Given the description of an element on the screen output the (x, y) to click on. 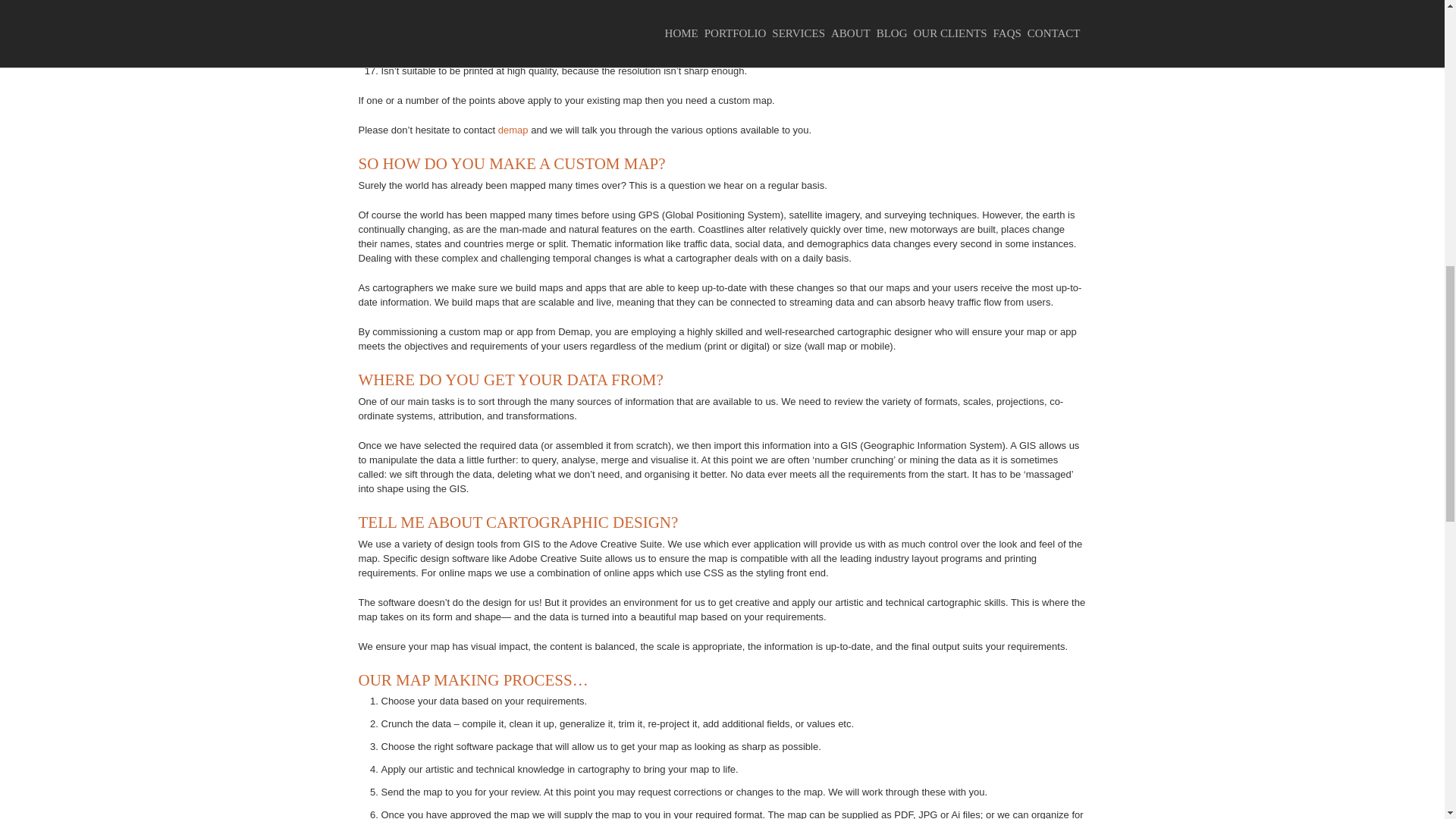
demap (512, 129)
